Given the description of an element on the screen output the (x, y) to click on. 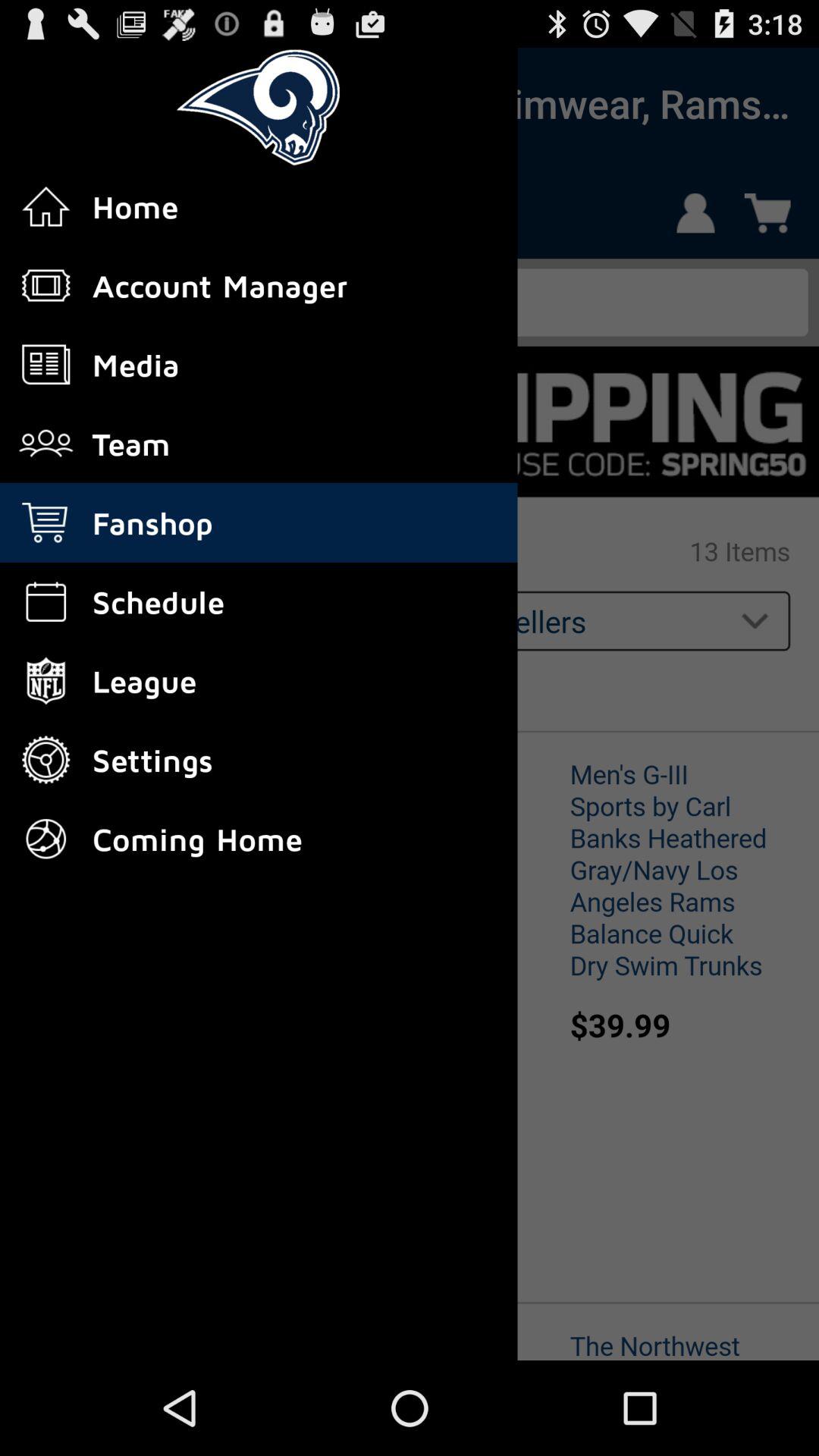
go to fanshop icon (45, 522)
go to fanshop option (55, 103)
enter the fourth icon (45, 444)
click on icon below cart icon (45, 601)
click on the first option icon on the left (45, 206)
